Given the description of an element on the screen output the (x, y) to click on. 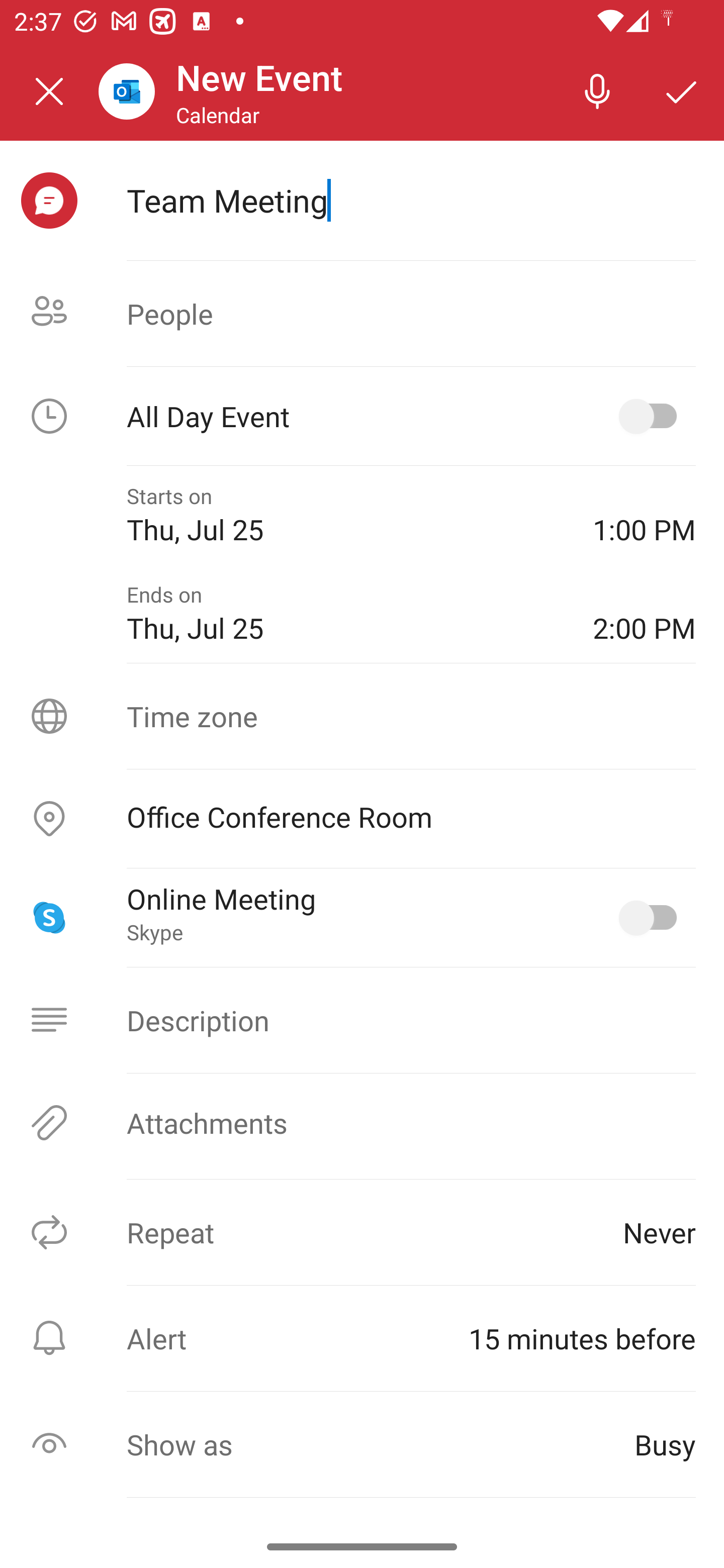
Close (49, 91)
Save (681, 90)
Team Meeting (410, 200)
meeting selected, event icon picker (48, 200)
People (362, 313)
All Day Event (362, 415)
Starts on Thu, Jul 25 (345, 514)
1:00 PM (644, 514)
Ends on Thu, Jul 25 (345, 613)
2:00 PM (644, 613)
Time zone (362, 715)
Online Meeting, Skype selected (651, 917)
Description (362, 1019)
Attachments (362, 1122)
Repeat Never (362, 1232)
Alert ⁨15 minutes before (362, 1337)
Show as Busy (362, 1444)
